Given the description of an element on the screen output the (x, y) to click on. 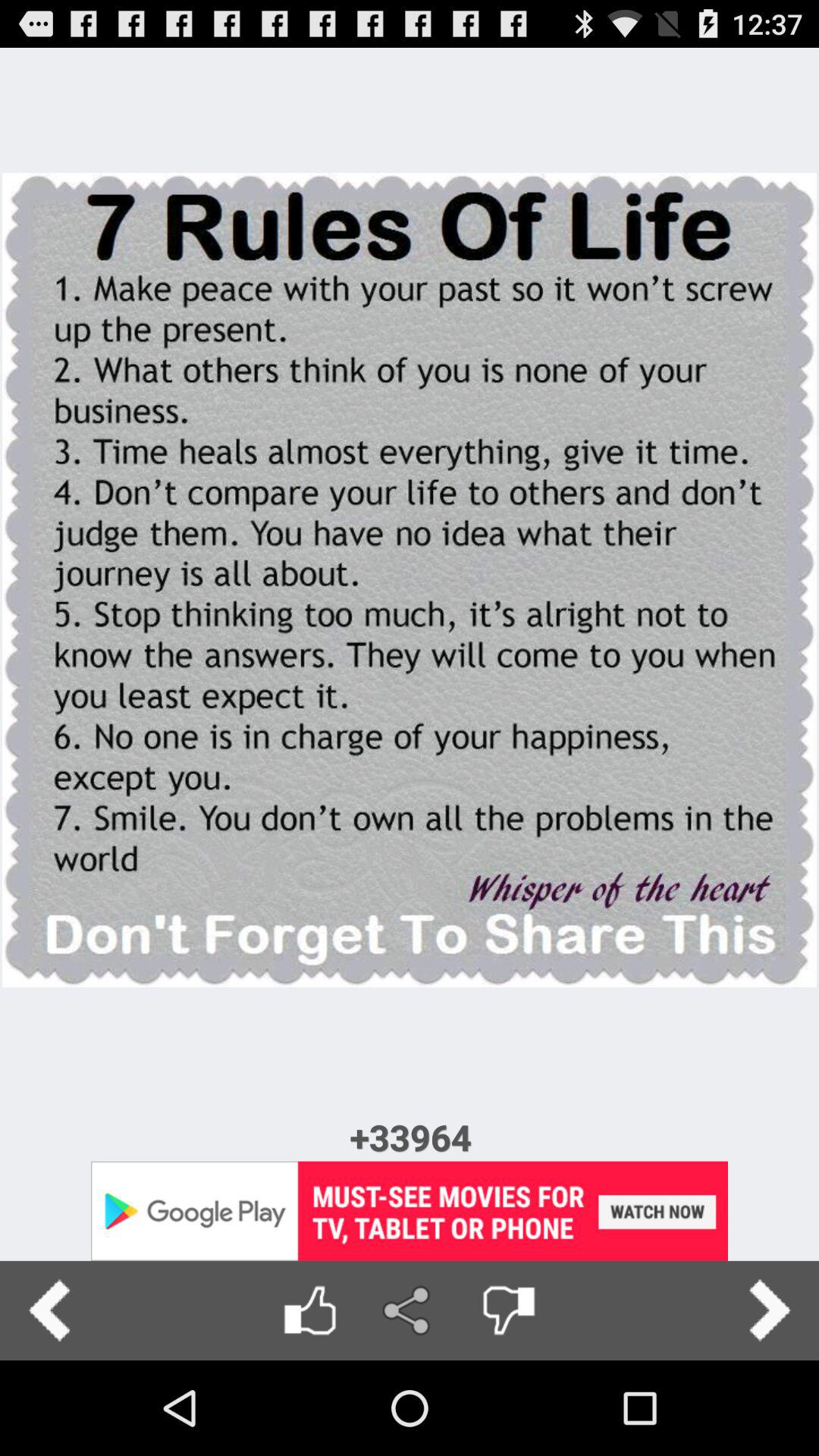
go back (49, 1310)
